Given the description of an element on the screen output the (x, y) to click on. 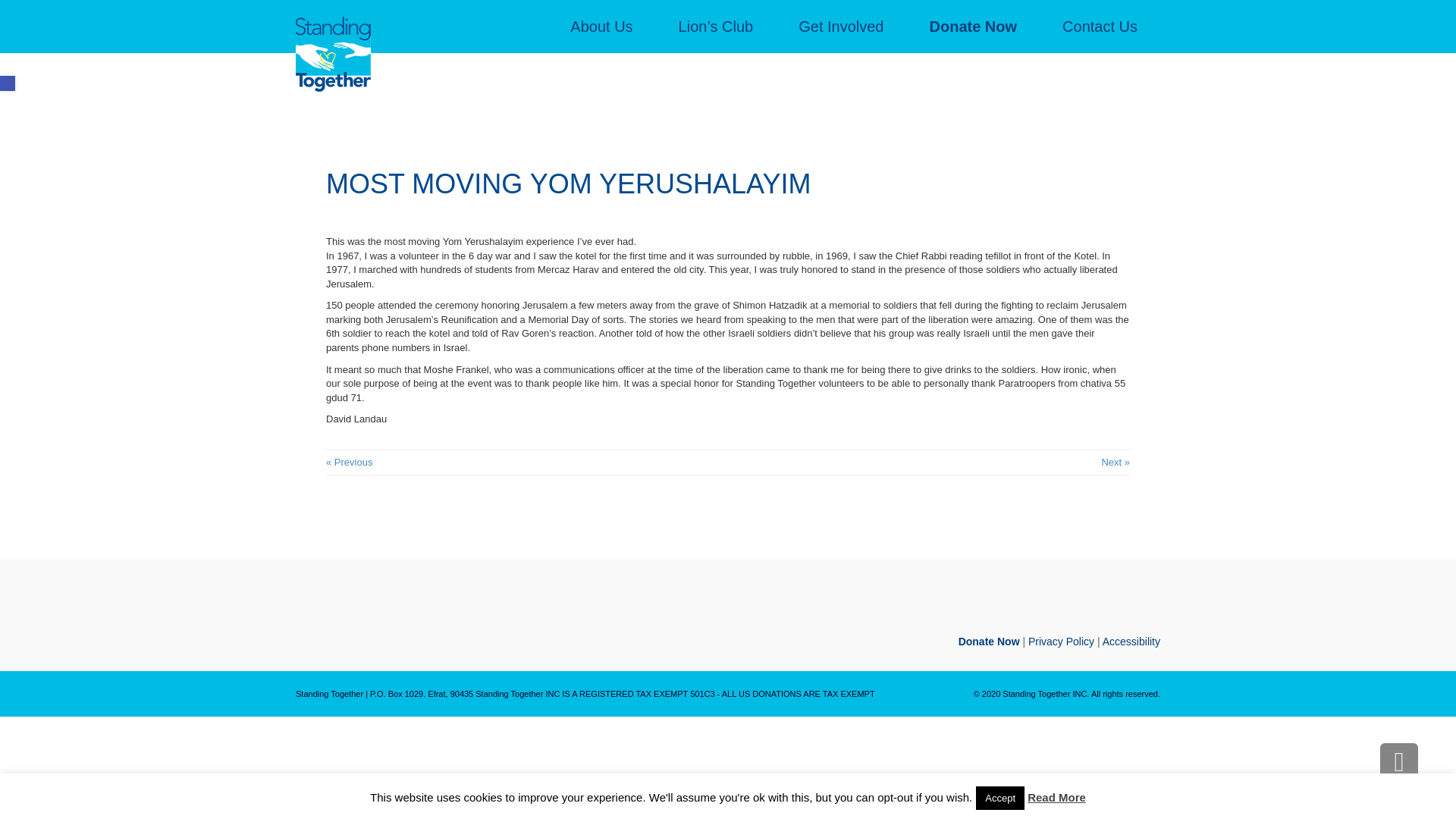
Accessibility (1131, 641)
Privacy Policy (1060, 641)
Accessibility Tools (7, 83)
Open toolbar (7, 83)
Get Involved (840, 26)
About Us (601, 26)
Contact Us (1099, 26)
Donate Now (974, 26)
Donate Now (990, 641)
